Given the description of an element on the screen output the (x, y) to click on. 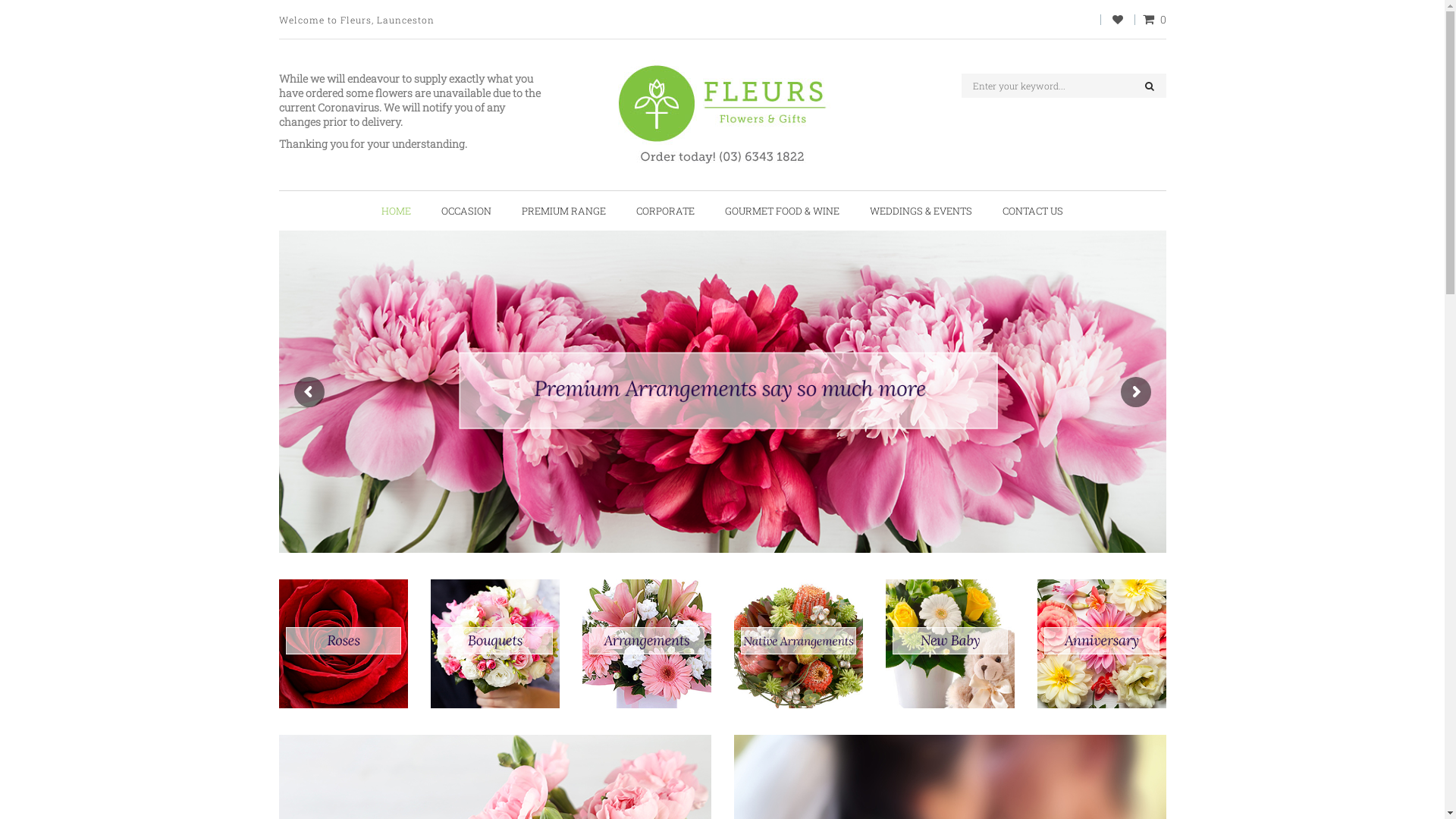
PREMIUM RANGE Element type: text (563, 210)
CONTACT US Element type: text (1032, 210)
Bouquets-270x270 Element type: hover (494, 643)
Anniversary-27x270 Element type: hover (1101, 643)
Arrangements-270x270 Element type: hover (646, 643)
OCCASION Element type: text (466, 210)
CORPORATE Element type: text (665, 210)
NewBaby-27x270 Element type: hover (949, 643)
Roses-270x270 Element type: hover (343, 643)
0 Element type: text (1153, 19)
WEDDINGS & EVENTS Element type: text (920, 210)
NativeArrang-270x270 Element type: hover (798, 643)
GOURMET FOOD & WINE Element type: text (781, 210)
HOME Element type: text (396, 210)
View my Wishlist Element type: hover (1116, 19)
